Given the description of an element on the screen output the (x, y) to click on. 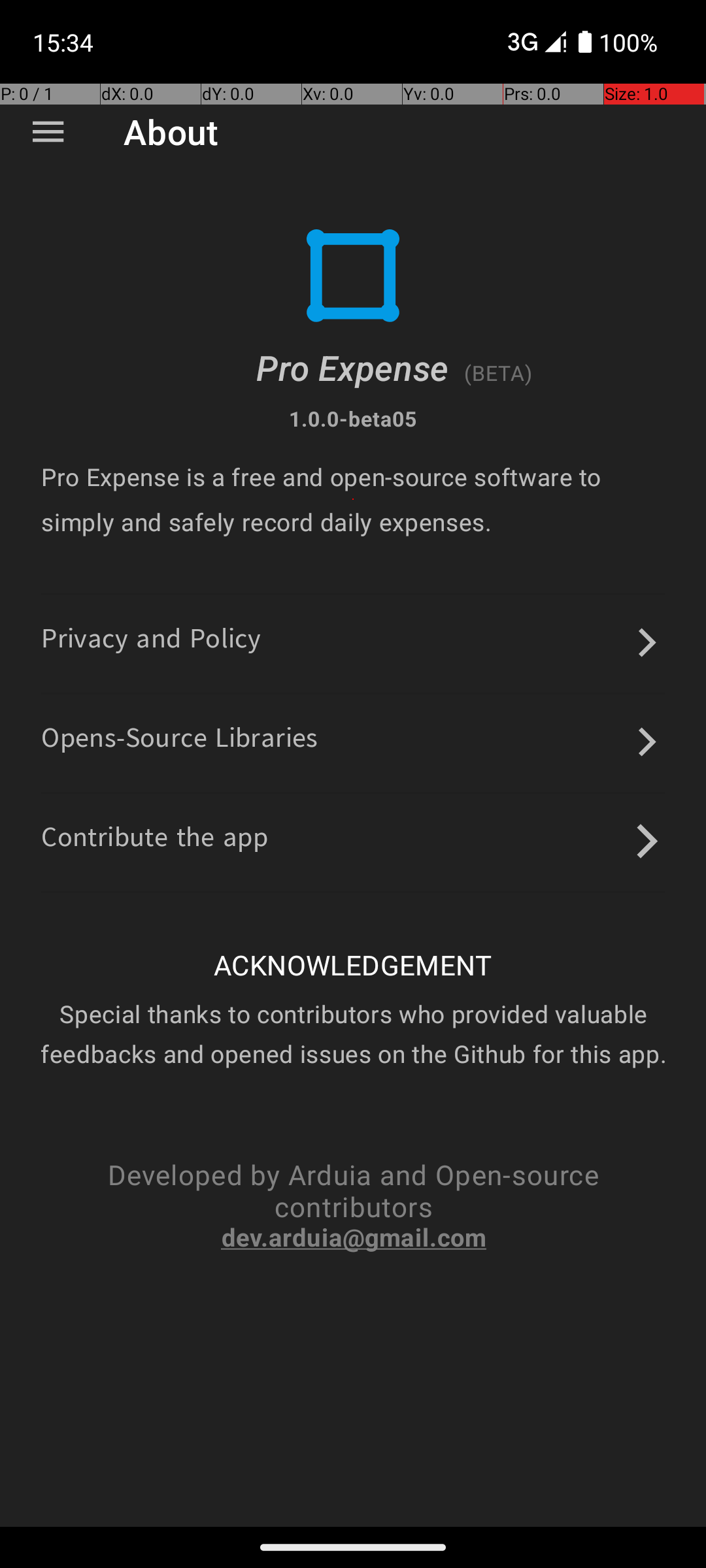
About Element type: android.widget.TextView (170, 131)
Pro Expense Element type: android.widget.TextView (352, 367)
(BETA) Element type: android.widget.TextView (497, 372)
1.0.0-beta05 Element type: android.widget.TextView (352, 418)
Pro Expense is a free and open-source software to simply and safely record daily expenses. Element type: android.widget.TextView (352, 498)
ACKNOWLEDGEMENT Element type: android.widget.TextView (352, 964)
Special thanks to contributors who provided valuable feedbacks and opened issues on the Github for this app. Element type: android.widget.TextView (352, 1033)
Developed by Arduia and Open-source contributors
dev.arduia@gmail.com Element type: android.widget.TextView (352, 1204)
Privacy and Policy Element type: android.widget.TextView (151, 642)
Opens-Source Libraries Element type: android.widget.TextView (179, 741)
Contribute the app Element type: android.widget.TextView (154, 841)
